Given the description of an element on the screen output the (x, y) to click on. 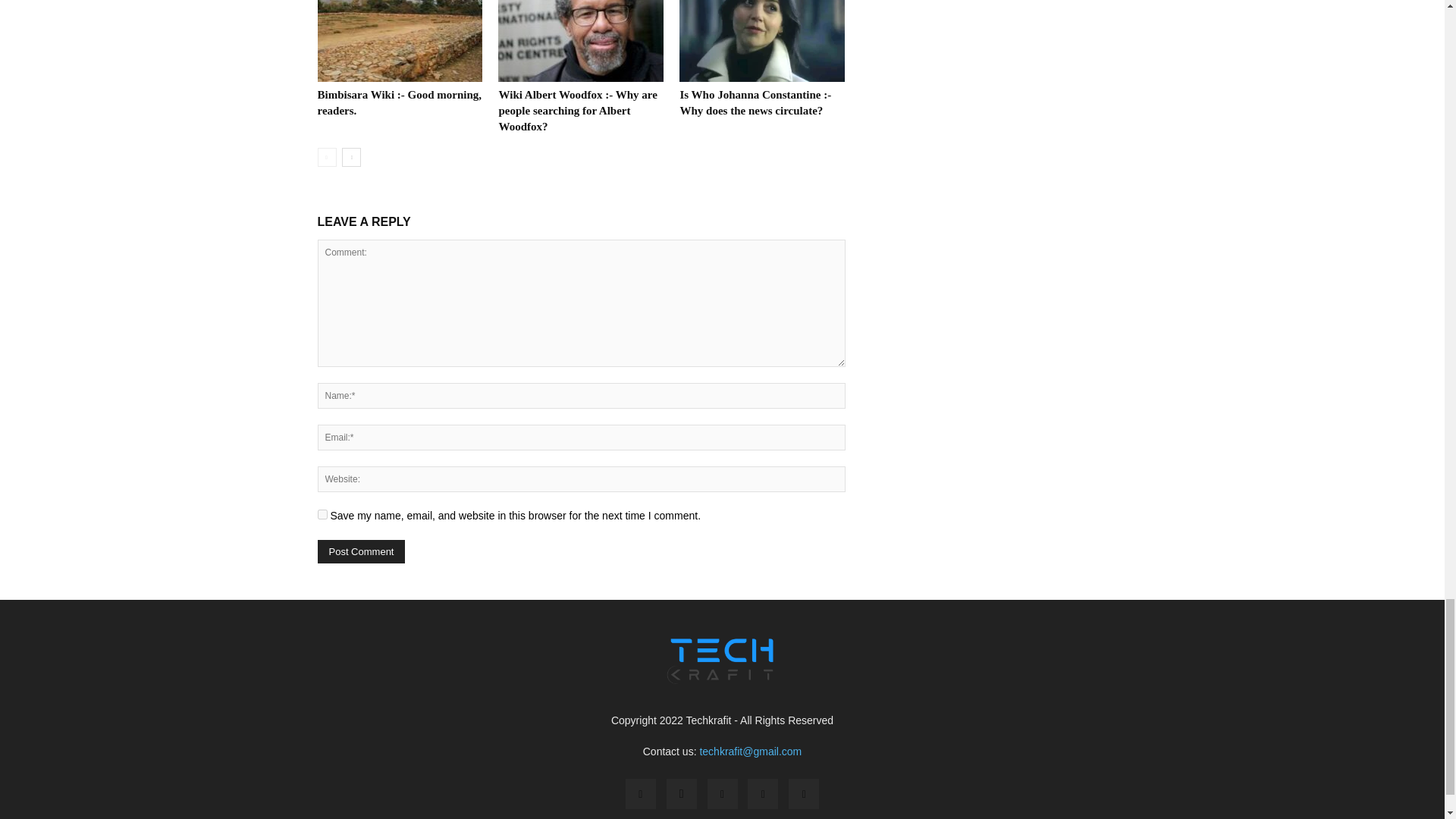
Post Comment (360, 551)
Bimbisara Wiki :- Good morning, readers. (399, 40)
yes (321, 514)
Bimbisara Wiki :- Good morning, readers. (399, 102)
